Given the description of an element on the screen output the (x, y) to click on. 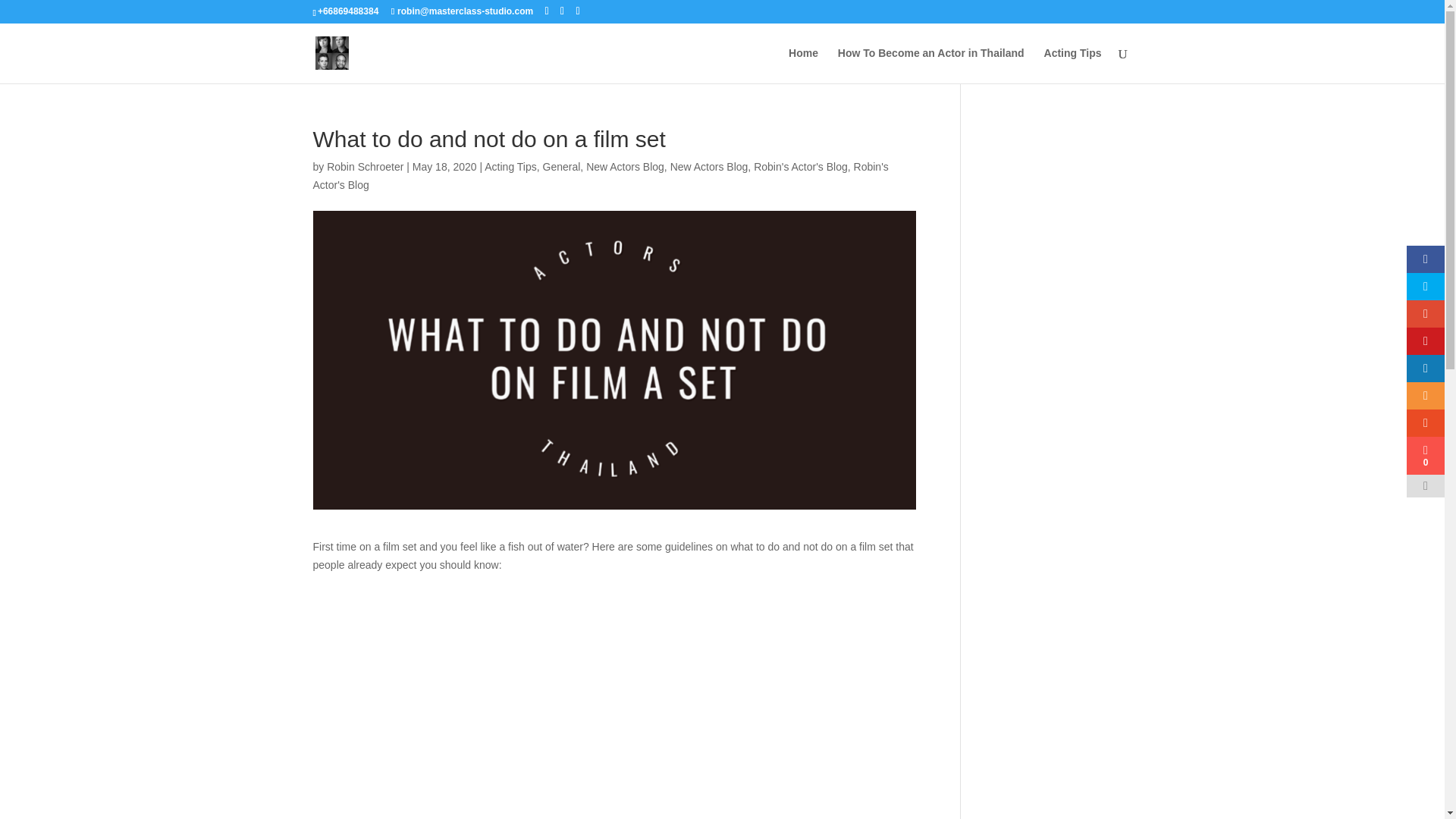
How To Become an Actor in Thailand (931, 65)
Acting Tips (509, 166)
Robin's Actor's Blog (600, 175)
Robin's Actor's Blog (800, 166)
Acting Tips (1072, 65)
General (561, 166)
New Actors Blog (624, 166)
Robin Schroeter (364, 166)
New Actors Blog (708, 166)
Posts by Robin Schroeter (364, 166)
